Given the description of an element on the screen output the (x, y) to click on. 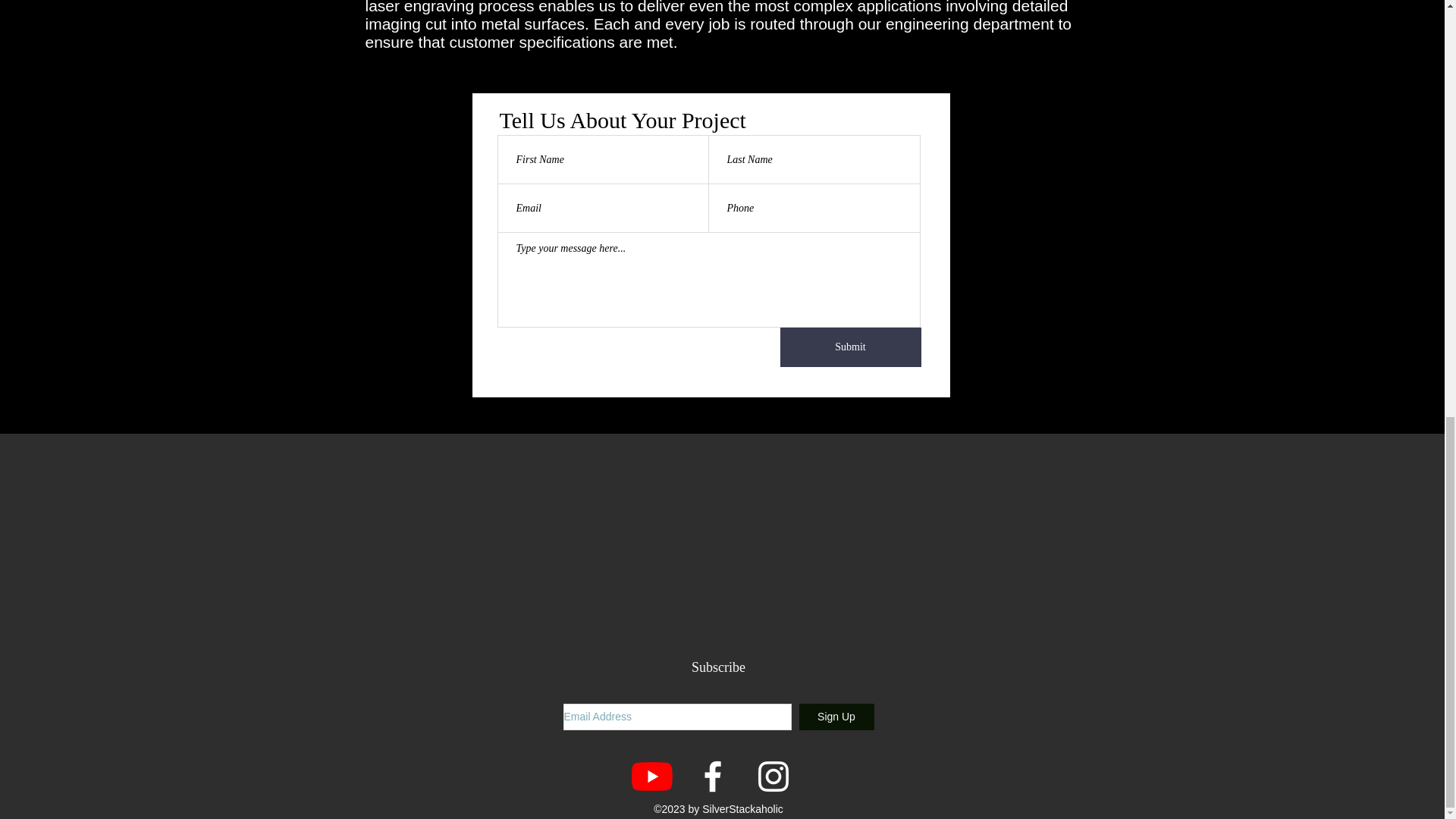
Submit (849, 346)
Sign Up (837, 716)
